Given the description of an element on the screen output the (x, y) to click on. 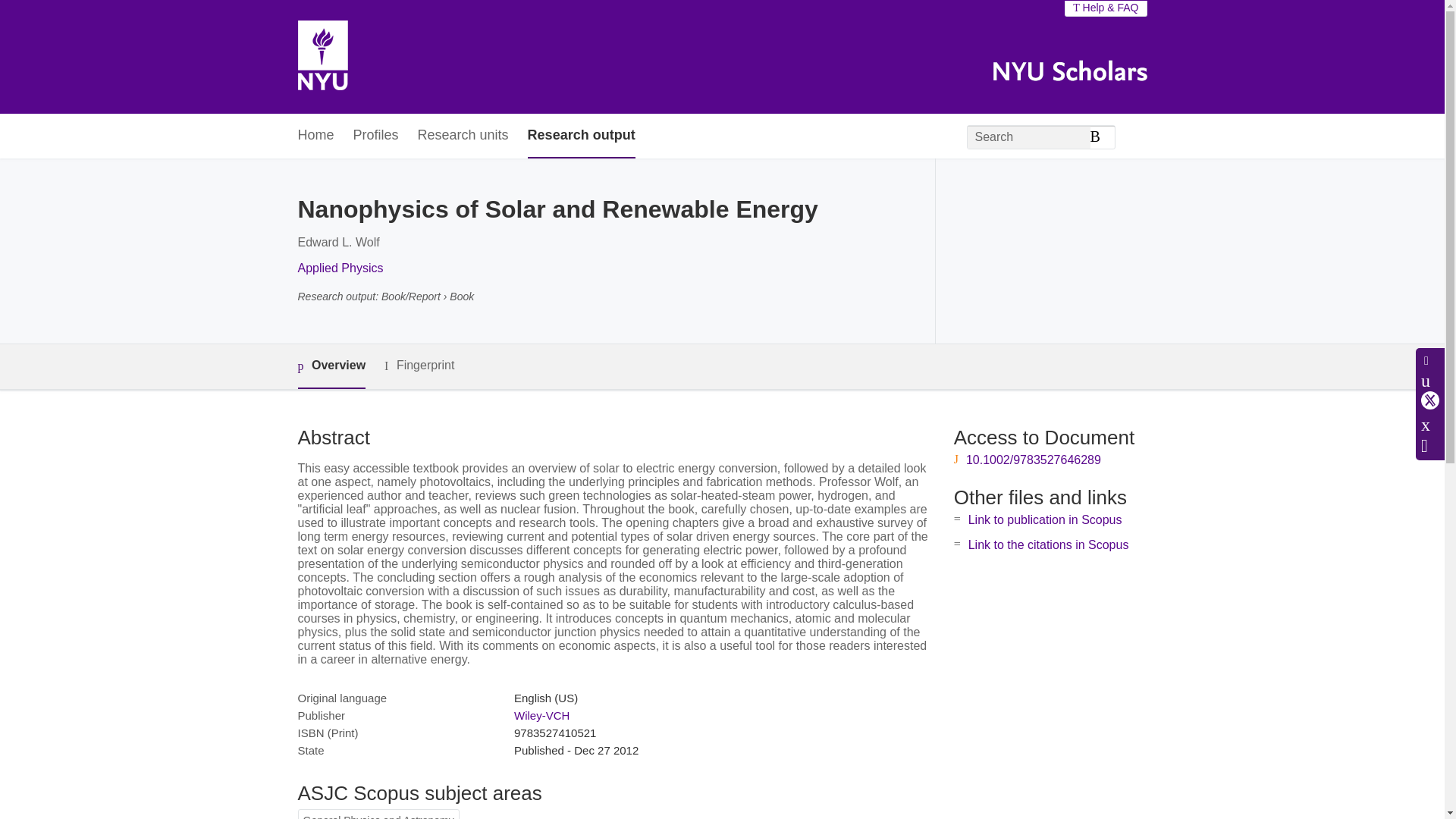
Applied Physics (339, 267)
Link to the citations in Scopus (1048, 544)
Profiles (375, 135)
Overview (331, 366)
Research output (580, 135)
Wiley-VCH (541, 715)
Research units (462, 135)
Link to publication in Scopus (1045, 519)
Fingerprint (419, 365)
